Given the description of an element on the screen output the (x, y) to click on. 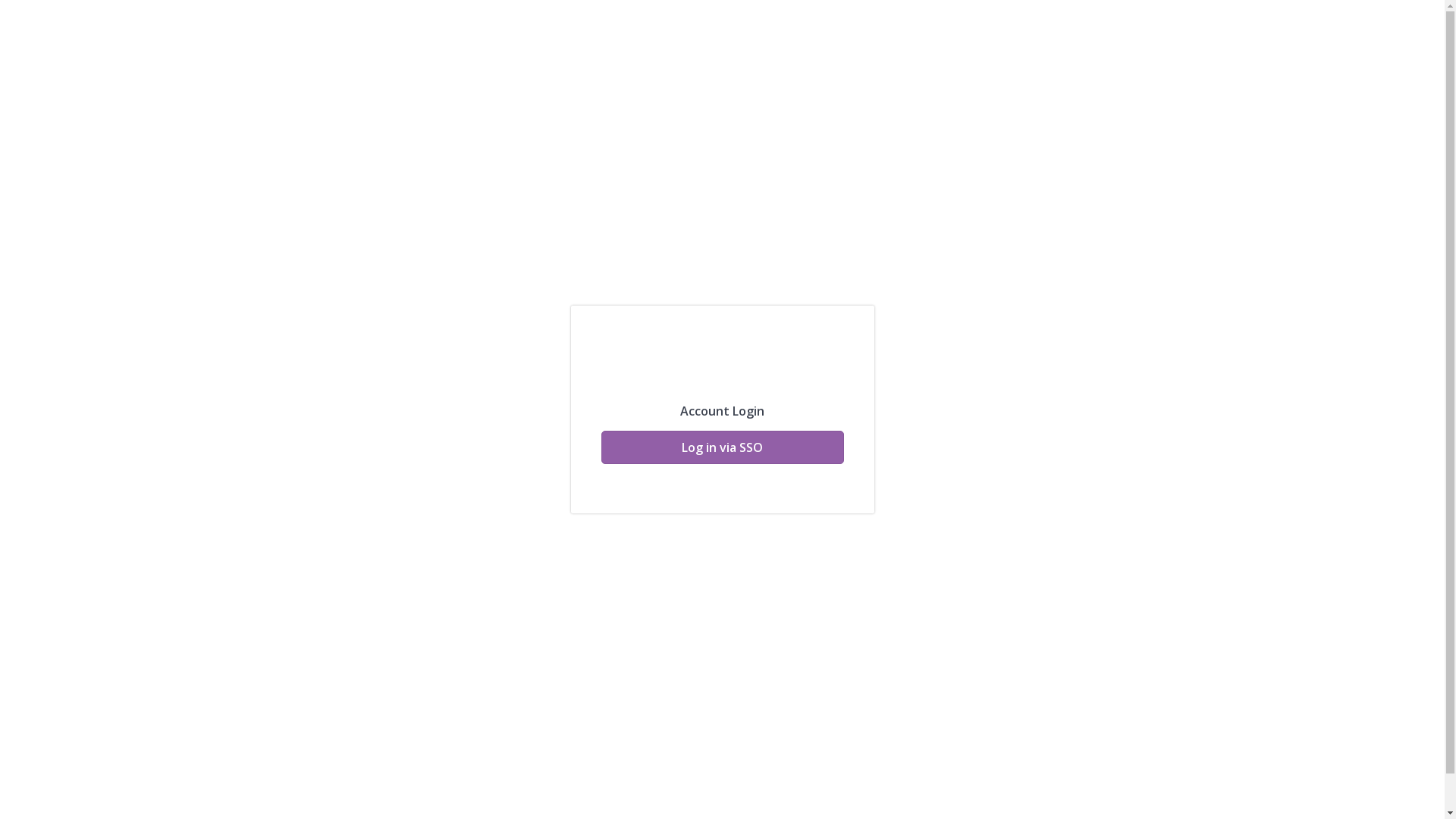
Log in via SSO Element type: text (721, 447)
